Given the description of an element on the screen output the (x, y) to click on. 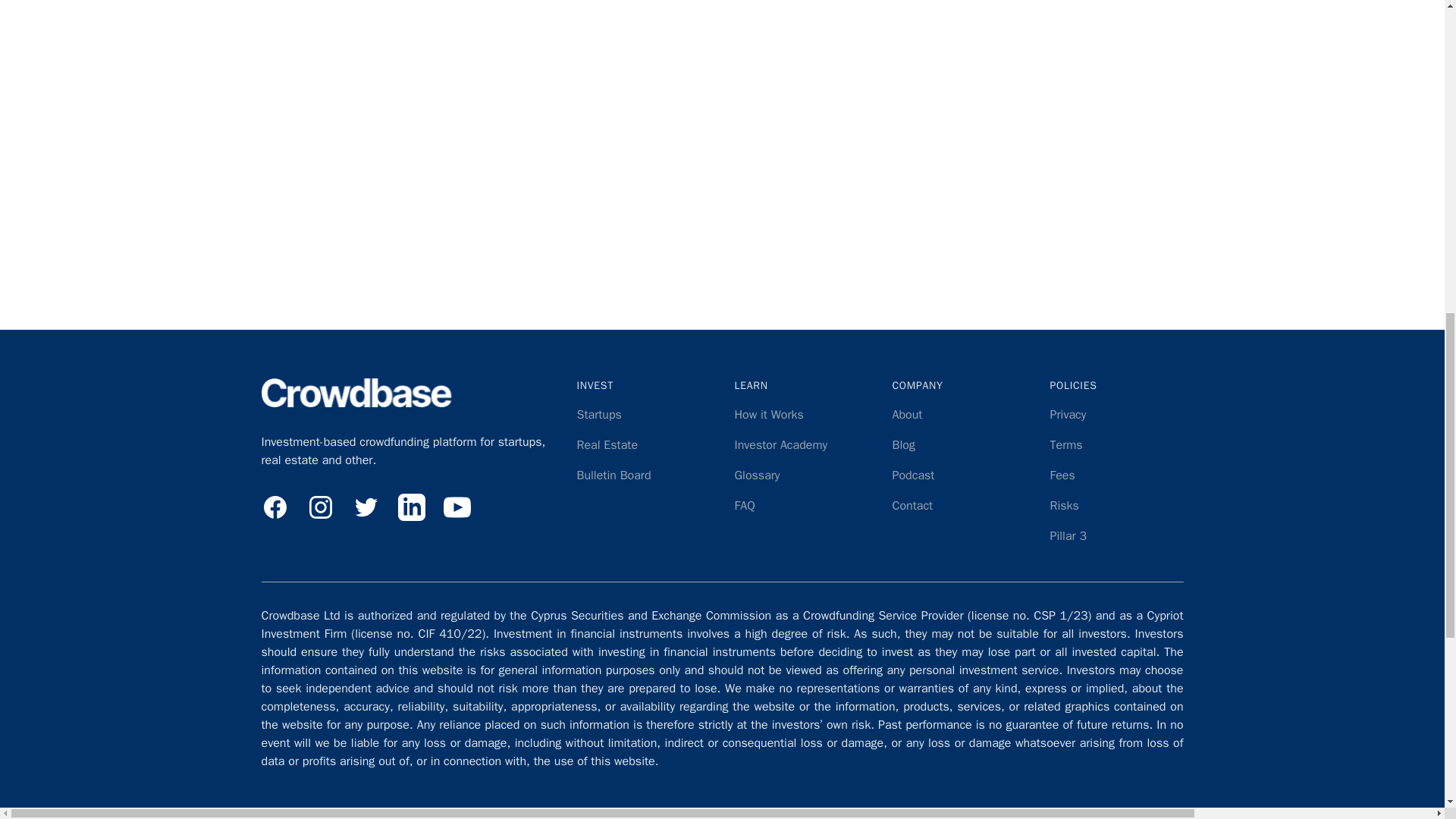
Podcast (912, 475)
Privacy (1067, 414)
Facebook (274, 506)
Startups (598, 414)
Glossary (755, 475)
Pillar 3 (1067, 535)
LinkedIn (411, 506)
Risks (1063, 505)
About (906, 414)
FAQ (743, 505)
Bulletin Board (613, 475)
Investor Academy (780, 444)
How it Works (768, 414)
Real Estate (606, 444)
YouTube (456, 506)
